Given the description of an element on the screen output the (x, y) to click on. 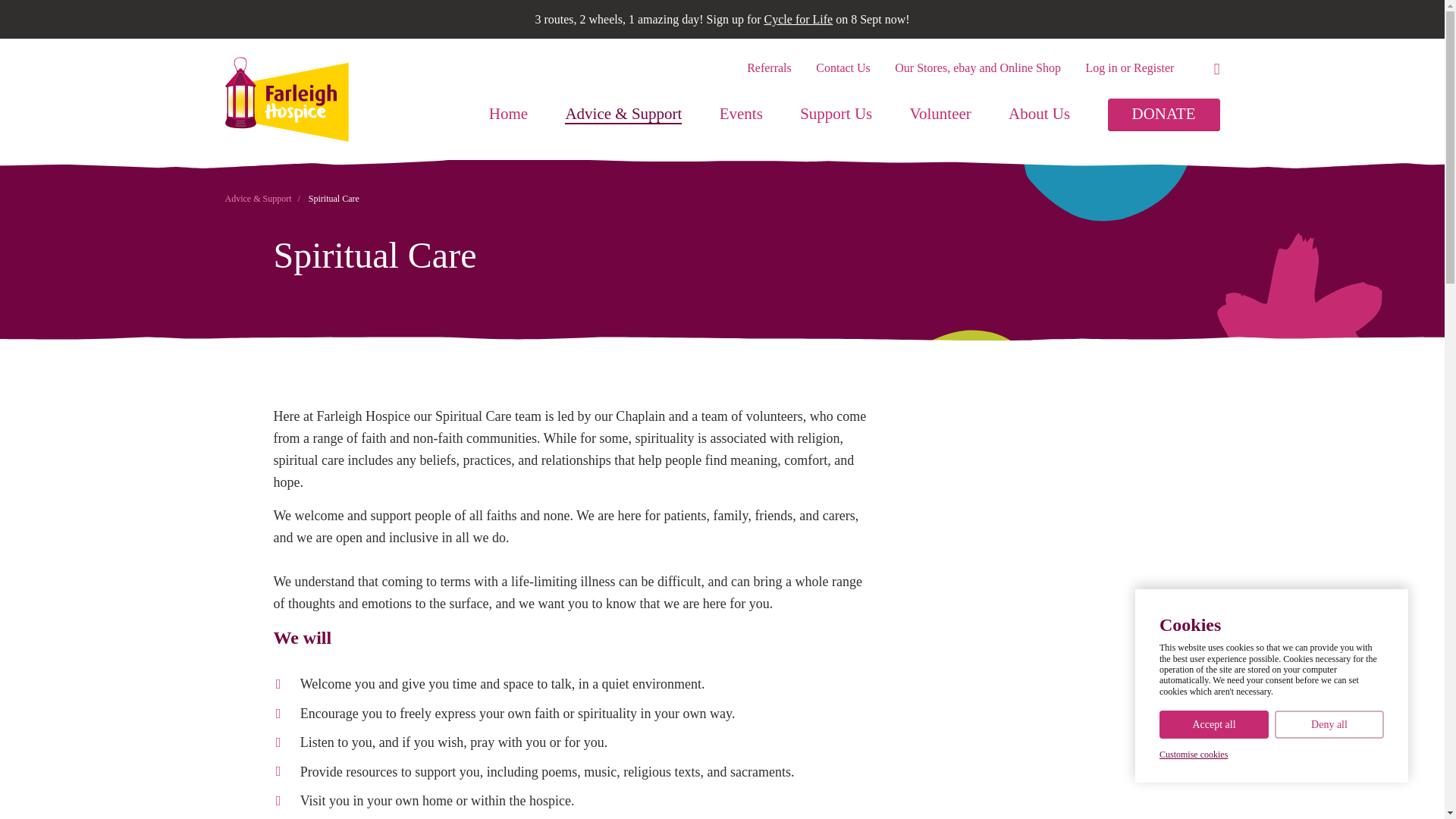
Deny all (1329, 724)
DONATE (1163, 114)
Events (740, 114)
Support Us (835, 114)
About Us (1039, 114)
Referrals (769, 68)
Our Stores, ebay and Online Shop (978, 68)
Cycle for Life (798, 19)
Customise cookies (1192, 754)
Volunteer (940, 114)
